Given the description of an element on the screen output the (x, y) to click on. 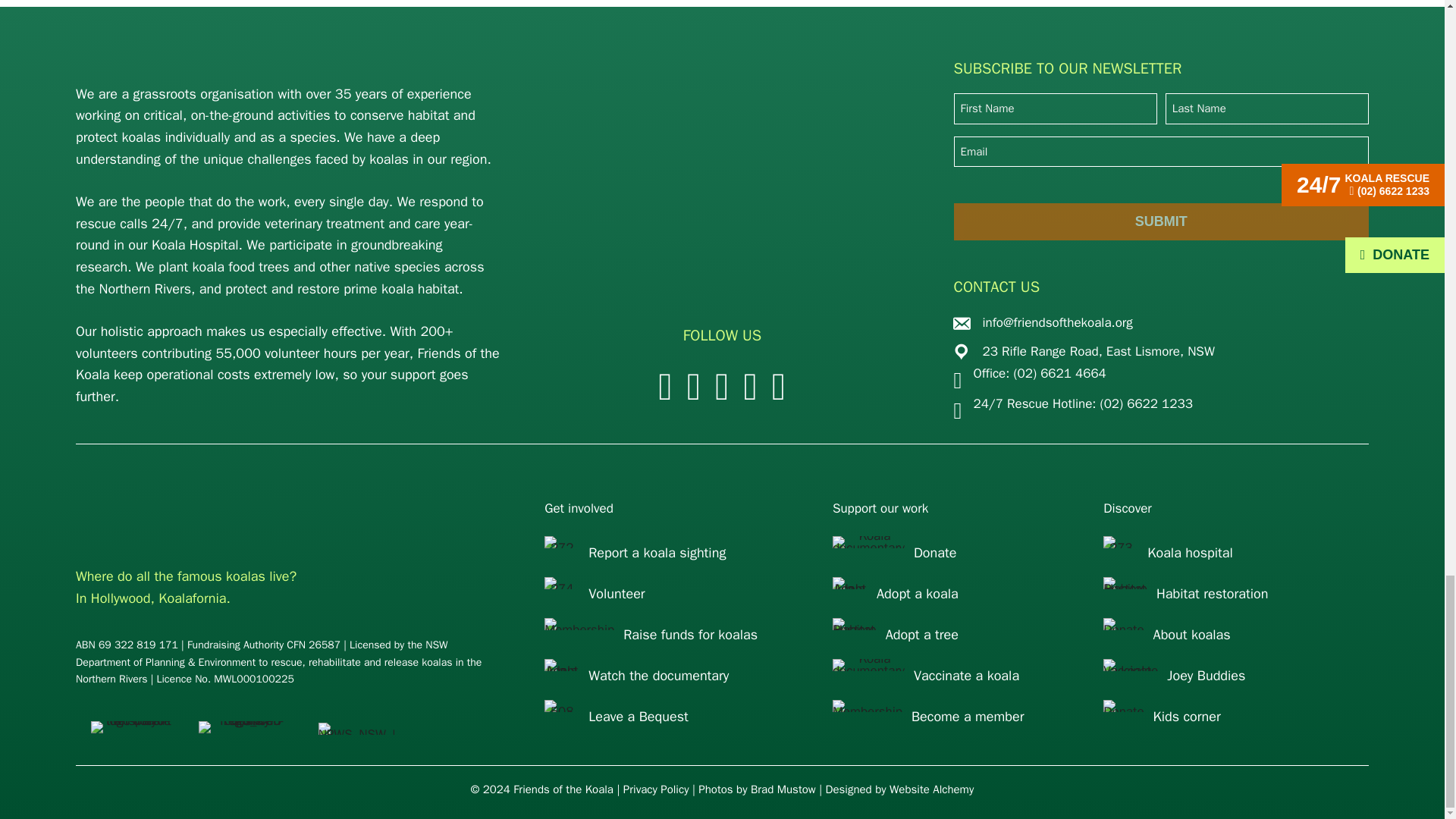
Submit (1160, 221)
